Given the description of an element on the screen output the (x, y) to click on. 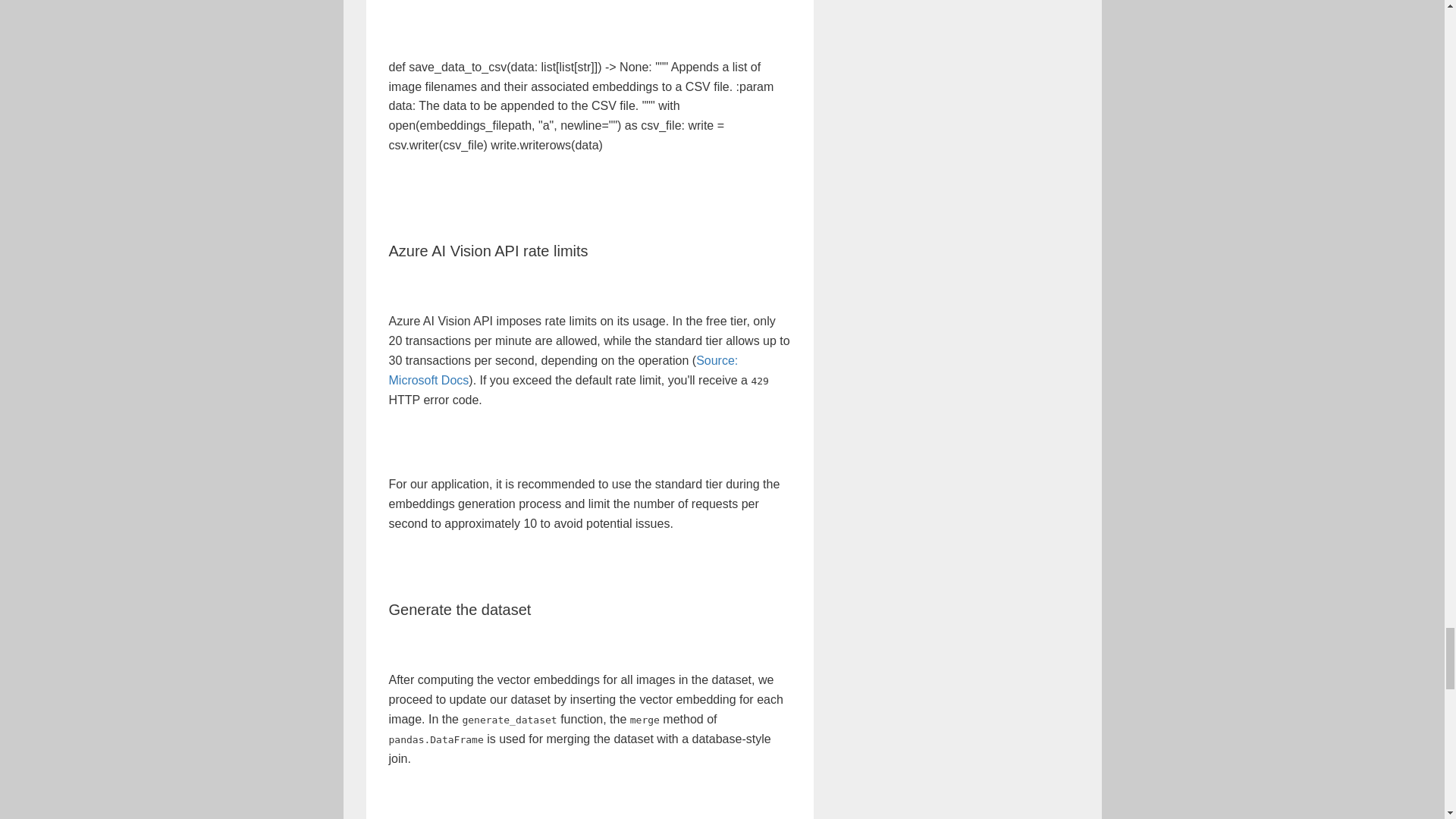
Source: Microsoft Docs (563, 369)
